Given the description of an element on the screen output the (x, y) to click on. 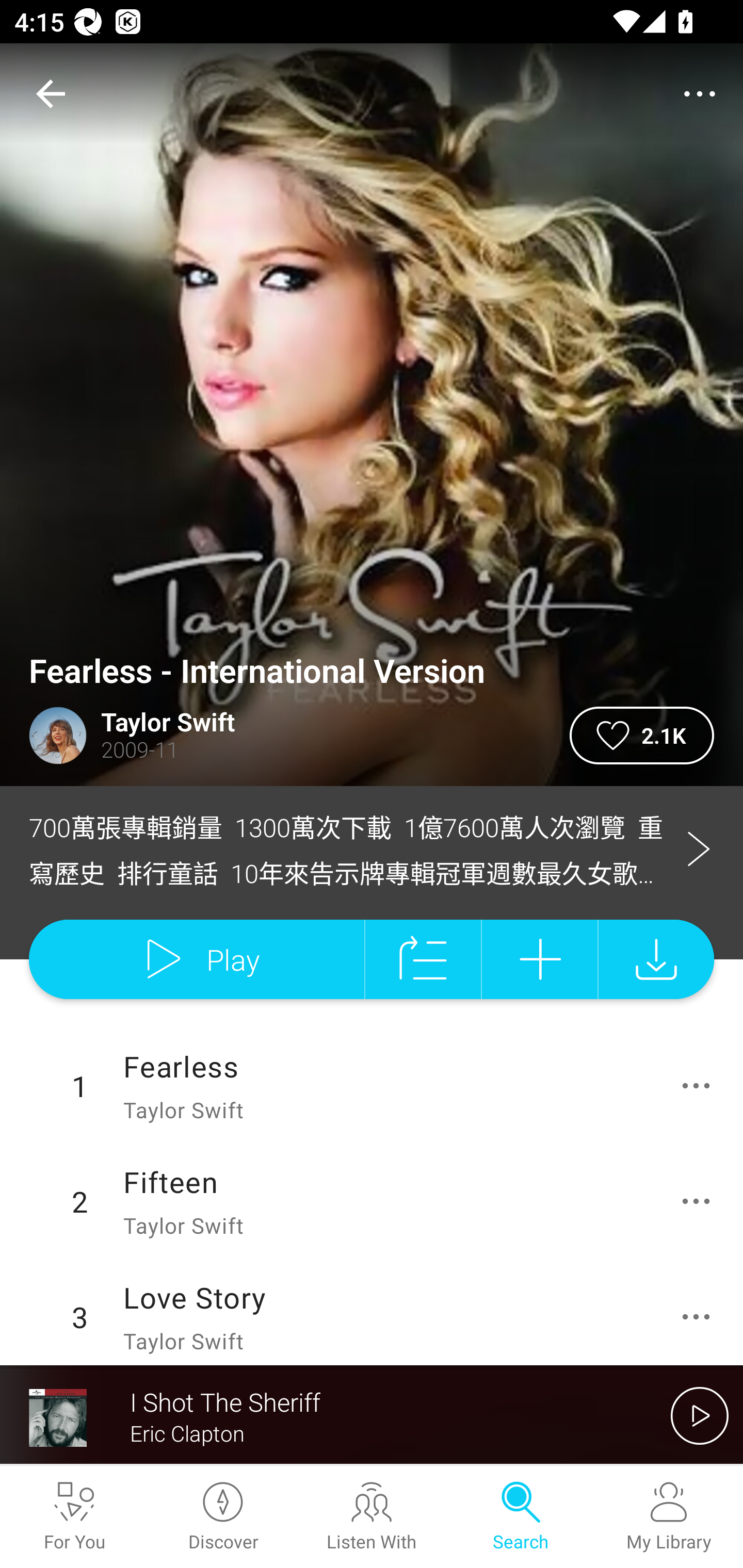
overflow (699, 93)
view_image Taylor Swift label_curator 2009-11 (284, 736)
2.1K button_subscription (641, 736)
Play (196, 959)
add to queue (422, 959)
加入至歌單 (539, 959)
下載歌曲至手機 (656, 959)
1 Fearless Taylor Swift 更多操作選項 (371, 1085)
更多操作選項 (699, 1085)
2 Fifteen Taylor Swift 更多操作選項 (371, 1201)
更多操作選項 (699, 1201)
3 Love Story Taylor Swift 更多操作選項 (371, 1312)
更多操作選項 (699, 1317)
開始播放 (699, 1415)
For You (74, 1517)
Discover (222, 1517)
Listen With (371, 1517)
Search (519, 1517)
My Library (668, 1517)
